Given the description of an element on the screen output the (x, y) to click on. 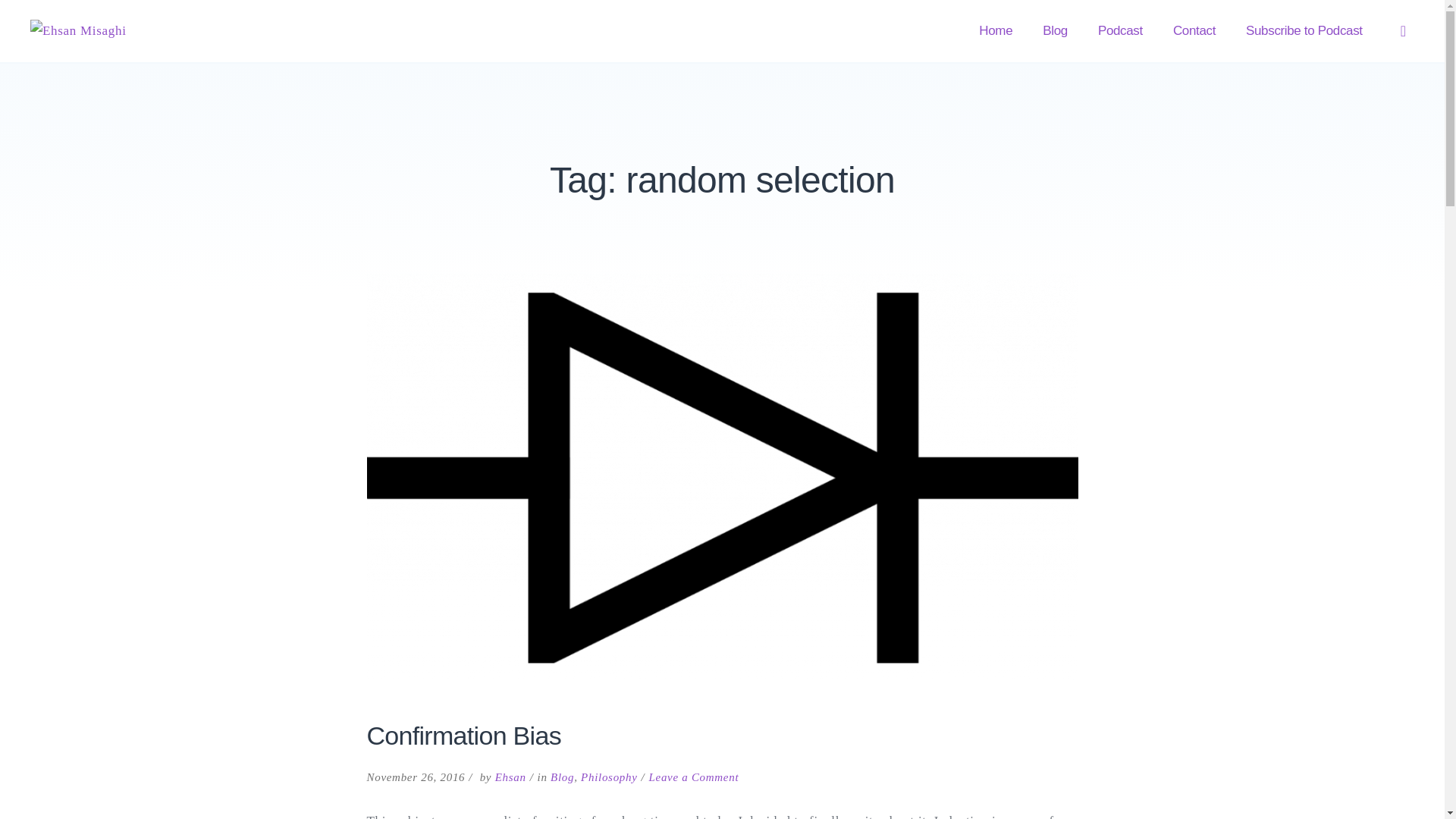
Confirmation Bias (463, 735)
Ehsan (692, 776)
Home (510, 776)
Subscribe to Podcast (995, 30)
Blog (1303, 30)
Contact (561, 776)
Philosophy (1193, 30)
Ehsan Misaghi (608, 776)
Podcast (105, 30)
Blog (1120, 30)
